Given the description of an element on the screen output the (x, y) to click on. 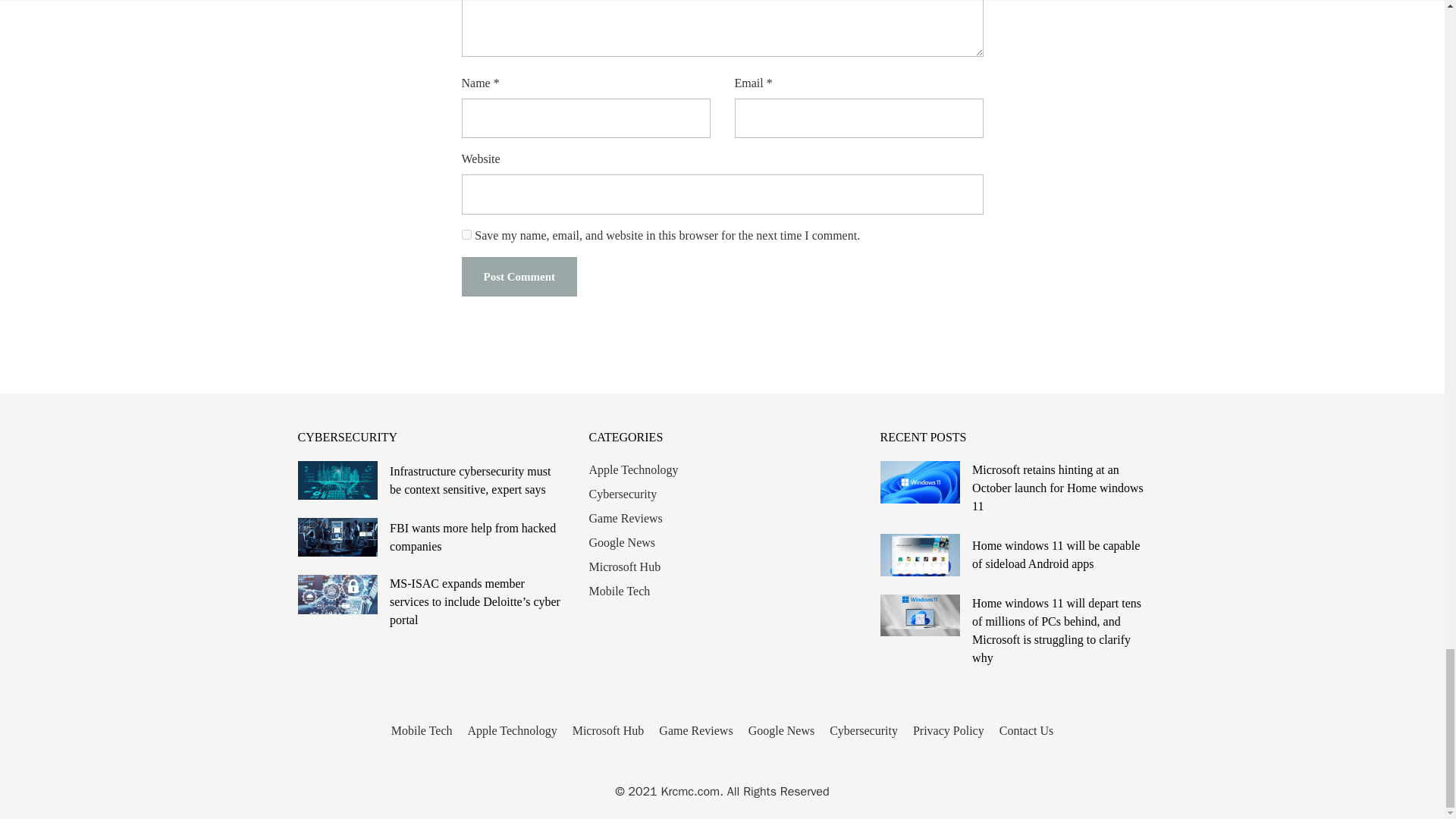
yes (465, 234)
Post Comment (518, 277)
